Given the description of an element on the screen output the (x, y) to click on. 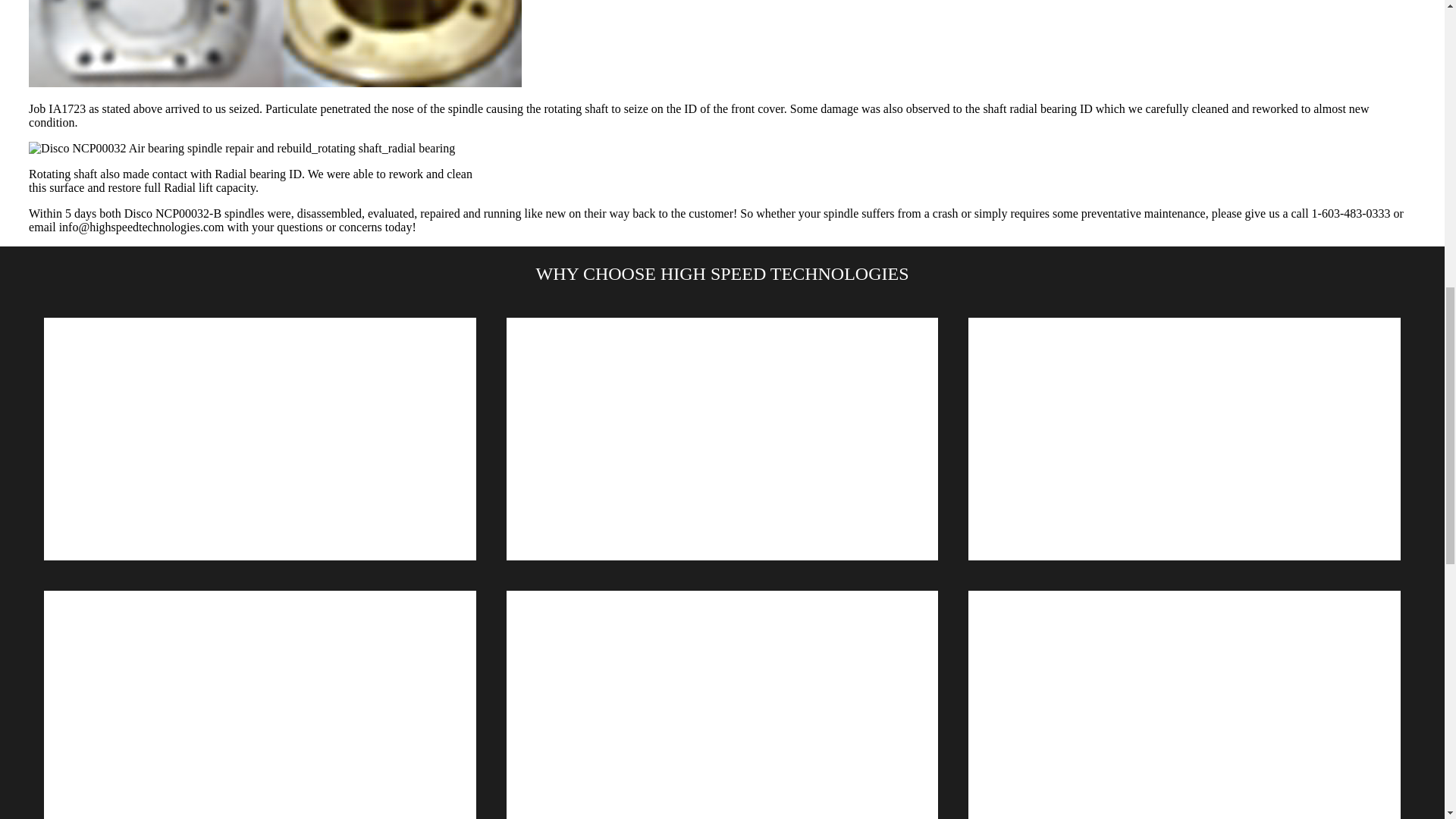
YouTube video player (722, 704)
YouTube video player (259, 704)
YouTube video player (1184, 704)
YouTube video player (259, 438)
YouTube video player (722, 438)
YouTube video player (1184, 438)
